Given the description of an element on the screen output the (x, y) to click on. 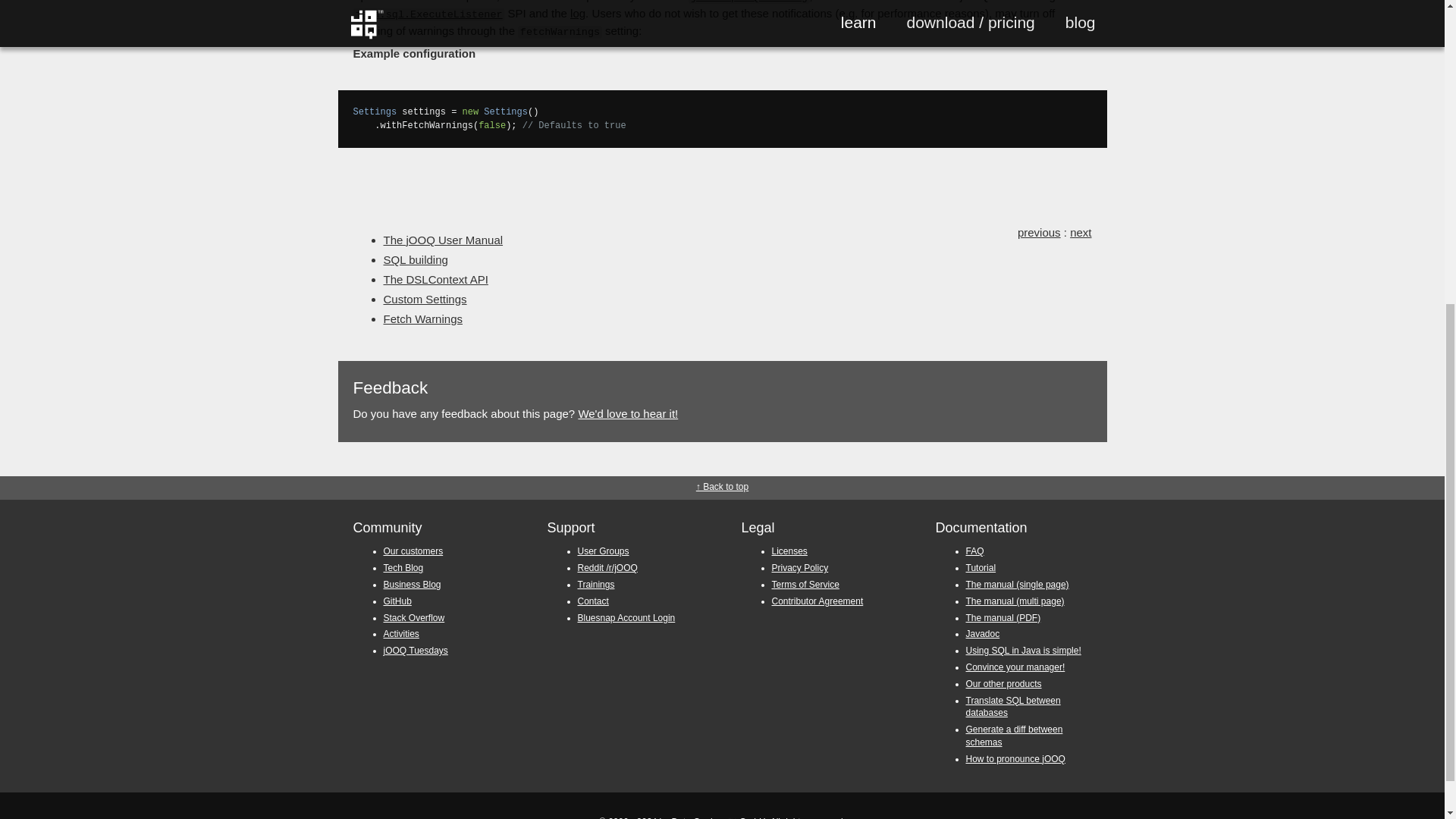
log (577, 12)
Custom Settings (425, 298)
java.sql.SQLWarning (748, 1)
Previous section: Fetching trimmed CHAR types (1039, 232)
Our customers (414, 551)
The jOOQ User Manual (443, 239)
next (1080, 232)
jOOQ Manual reference: Logging with LoggerListener (577, 12)
SQL building (416, 259)
External API reference: java.sql.SQLWarning (748, 1)
The DSLContext API (435, 278)
GitHub (398, 601)
External API reference: java.sql.ExecuteListener (429, 12)
Business Blog (412, 584)
Fetch Warnings (423, 318)
